Given the description of an element on the screen output the (x, y) to click on. 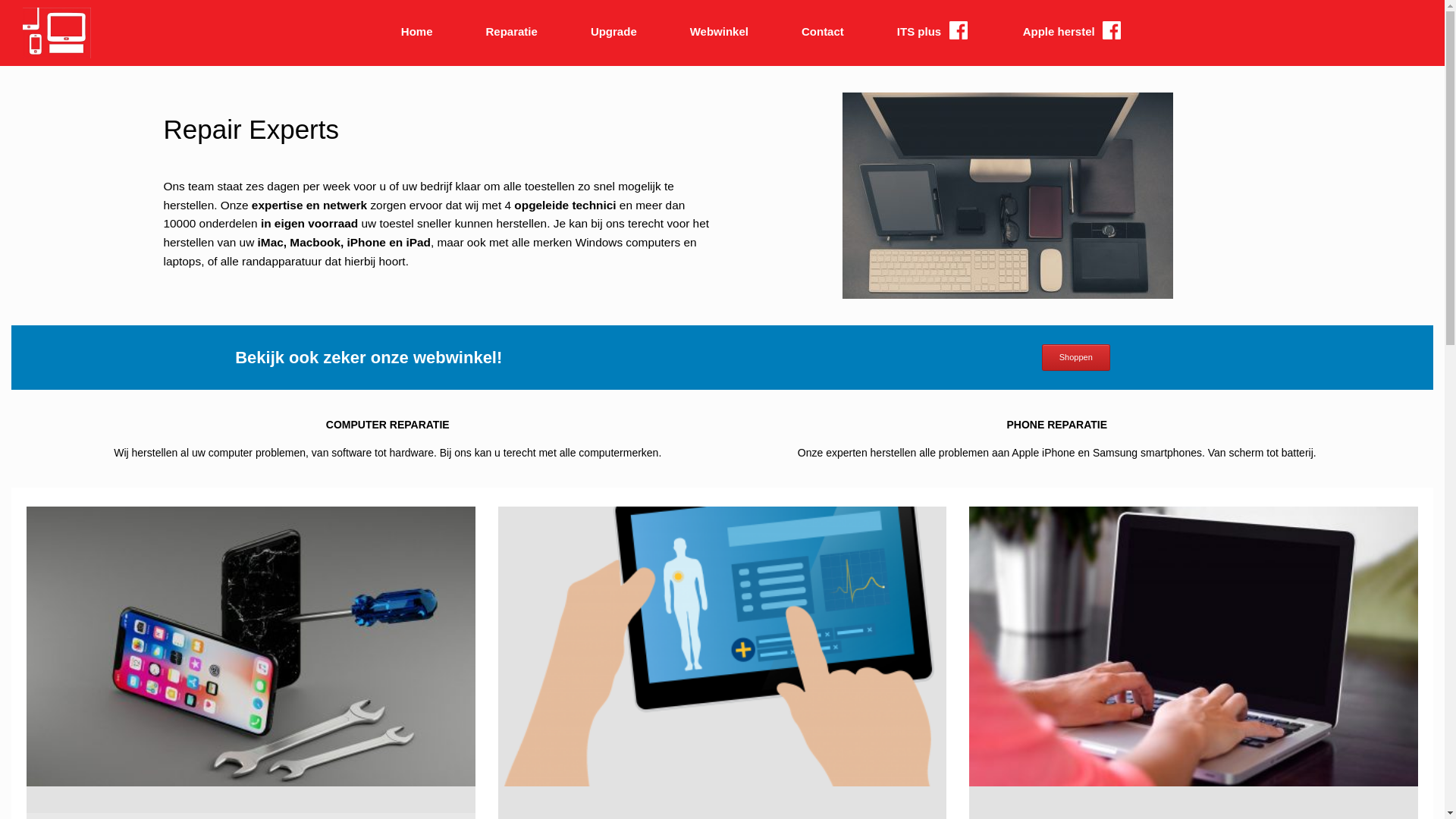
Webwinkel Element type: text (719, 31)
Shoppen Element type: text (1075, 357)
Upgrade Element type: text (613, 31)
Apple-herstel Element type: hover (56, 32)
Home Element type: text (416, 31)
ITS plus Element type: text (933, 32)
Reparatie Element type: text (511, 31)
Apple herstel Element type: text (1073, 32)
Contact Element type: text (822, 31)
